Given the description of an element on the screen output the (x, y) to click on. 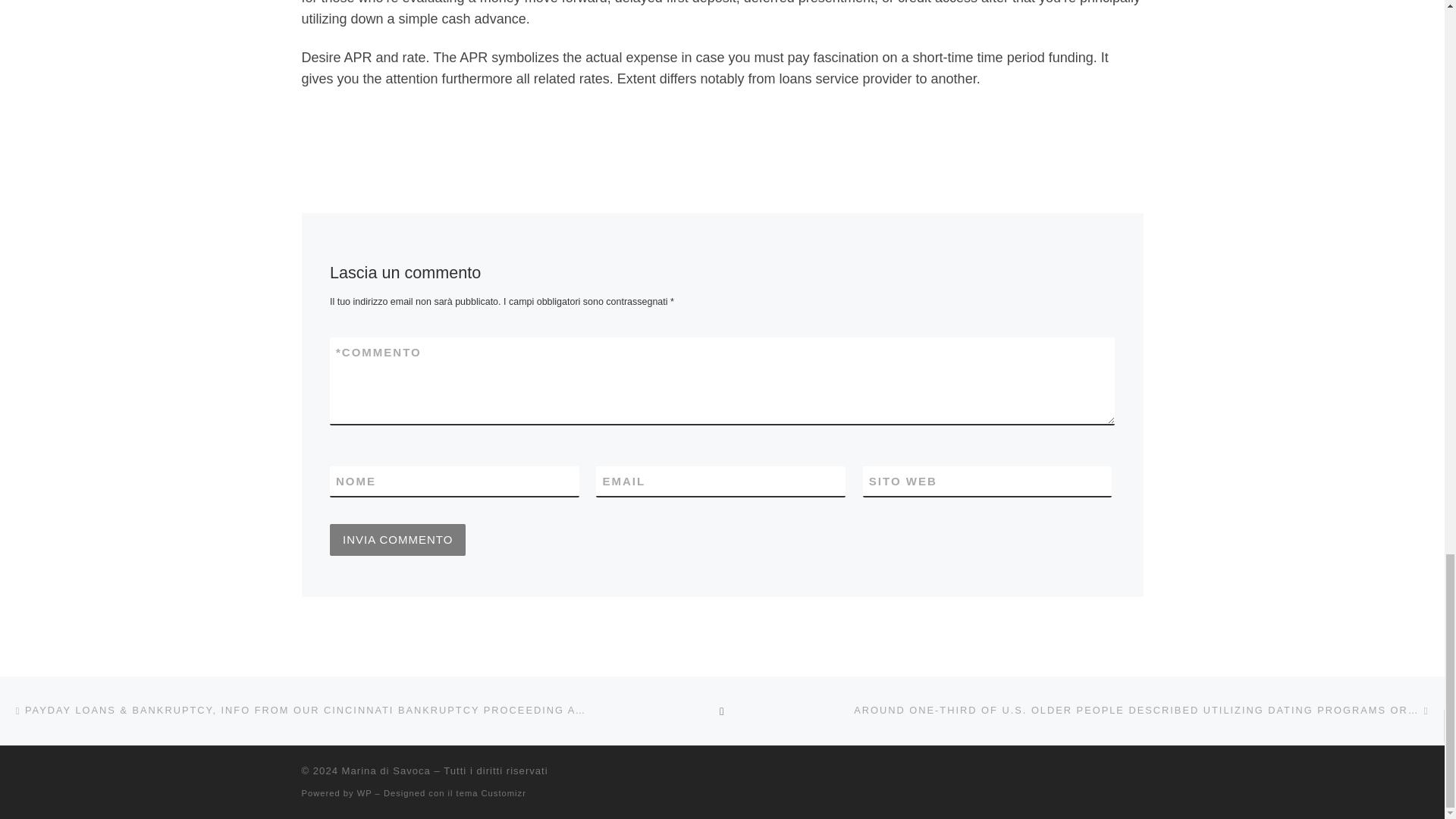
tema Customizr (491, 792)
Powered by WordPress (364, 792)
Invia commento (397, 540)
Invia commento (397, 540)
Marina di Savoca (386, 770)
